Given the description of an element on the screen output the (x, y) to click on. 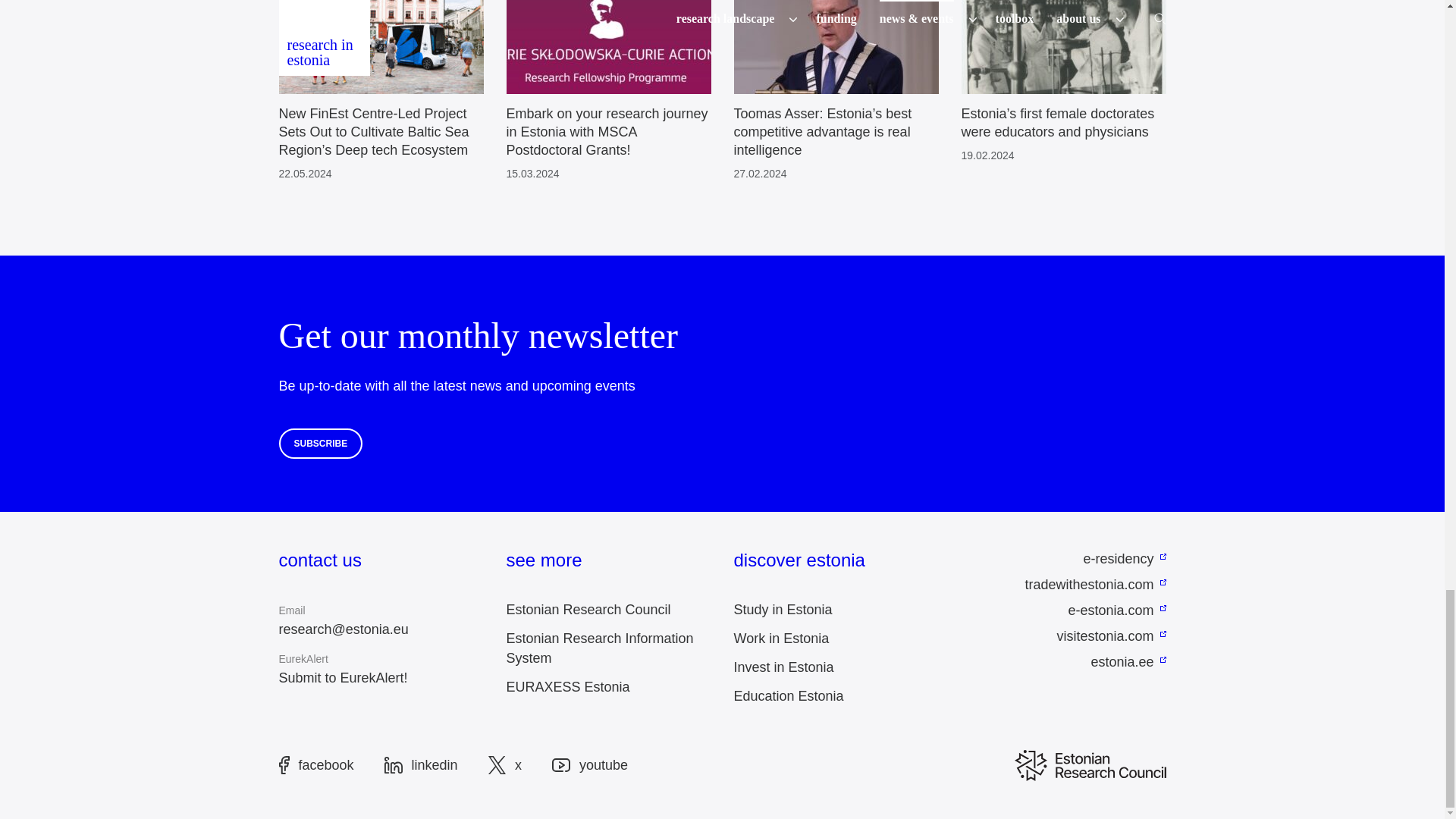
SUBSCRIBE (320, 443)
Study in Estonia (782, 609)
EURAXESS Estonia (568, 686)
Estonian Research Information System (600, 647)
Facebook (316, 764)
Youtube (589, 765)
x (504, 764)
Estonian Research Council (588, 609)
Education Estonia (788, 695)
Invest in Estonia (783, 667)
LinkedIn (421, 764)
Work in Estonia (781, 638)
Submit to EurekAlert! (343, 677)
